Given the description of an element on the screen output the (x, y) to click on. 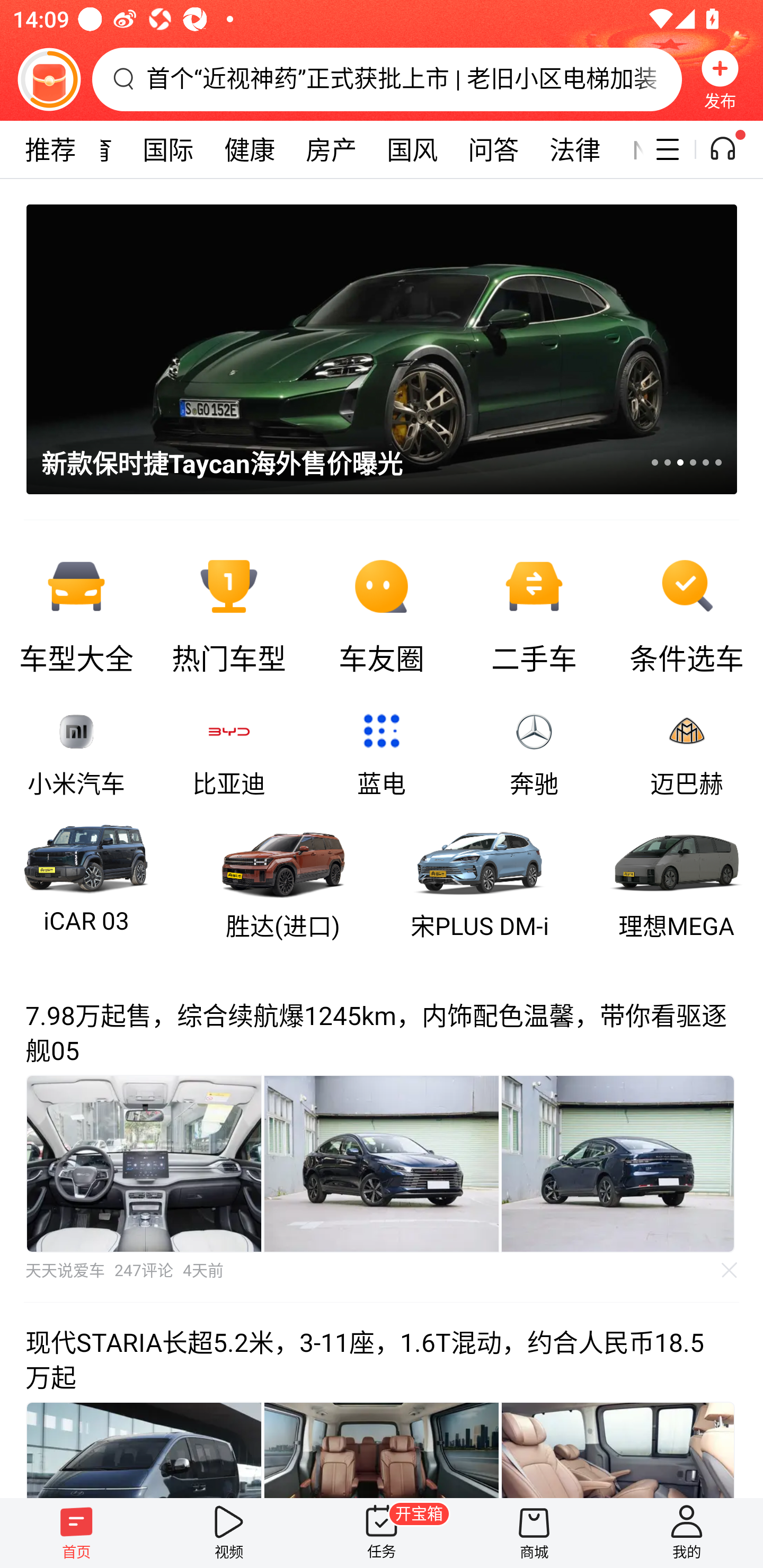
阅读赚金币 (48, 79)
发布 发布，按钮 (720, 78)
推荐 (49, 149)
国际 (167, 149)
健康 (249, 149)
房产 (331, 149)
国风 (412, 149)
问答 (493, 149)
法律 (575, 149)
听一听开关 (732, 149)
新款保时捷Taycan海外售价曝光 (368, 348)
车型大全按钮 (76, 612)
热门车型按钮 (228, 612)
车友圈按钮 (381, 612)
二手车按钮 (533, 612)
条件选车按钮 (686, 612)
小米汽车按钮 (76, 754)
比亚迪按钮 (228, 754)
蓝电按钮 (381, 754)
奔驰按钮 (533, 754)
迈巴赫按钮 (686, 754)
iCAR 03按钮 (86, 879)
胜达(进口)按钮 (283, 879)
宋PLUS DM-i按钮 (479, 879)
理想MEGA按钮 (676, 879)
三张内容图片 内容图片 内容图片 内容图片 (381, 1163)
内容图片 (143, 1163)
内容图片 (381, 1163)
内容图片 (617, 1163)
不感兴趣 (729, 1269)
首页 (76, 1532)
视频 (228, 1532)
任务 开宝箱 (381, 1532)
商城 (533, 1532)
我的 (686, 1532)
